Given the description of an element on the screen output the (x, y) to click on. 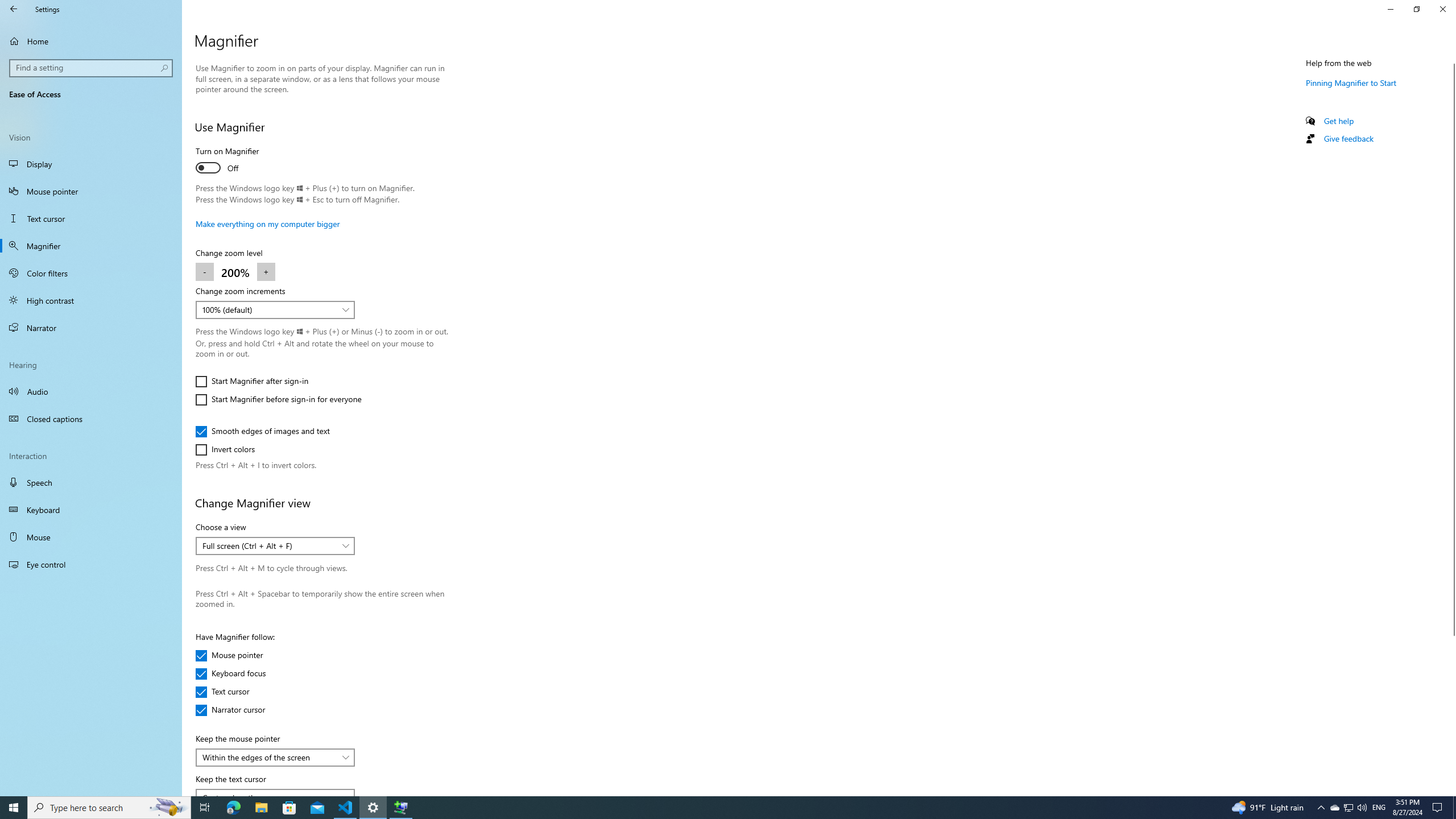
Narrator cursor (1333, 807)
Full screen (Ctrl + Alt + F) (229, 710)
Zoom in (269, 545)
Search box, Find a setting (266, 271)
Smooth edges of images and text (91, 67)
Action Center, No new notifications (262, 431)
Within the edges of the screen (1439, 807)
Magnifier (269, 756)
Text cursor (91, 245)
100% (default) (91, 217)
Home (269, 309)
Settings - 1 running window (91, 40)
Closed captions (373, 807)
